Given the description of an element on the screen output the (x, y) to click on. 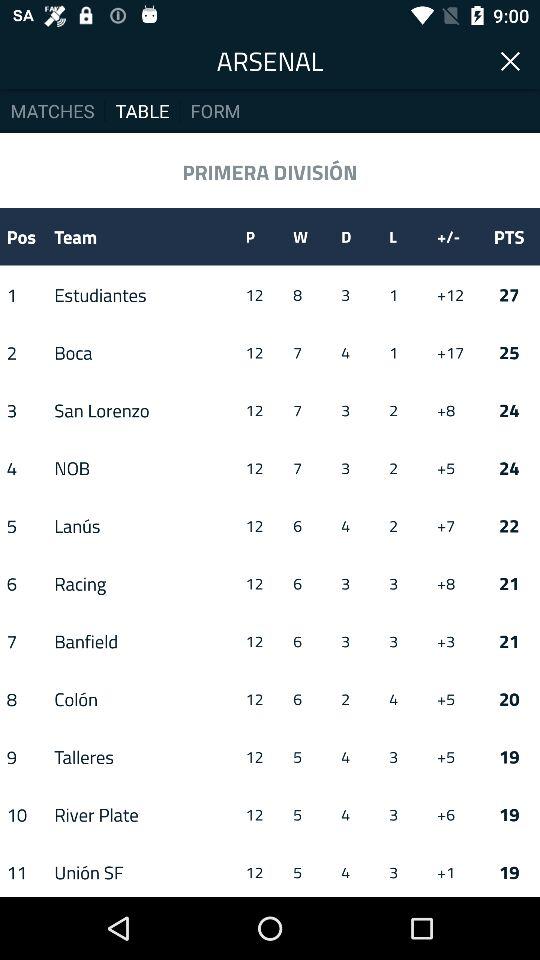
turn on icon next to table item (52, 110)
